Given the description of an element on the screen output the (x, y) to click on. 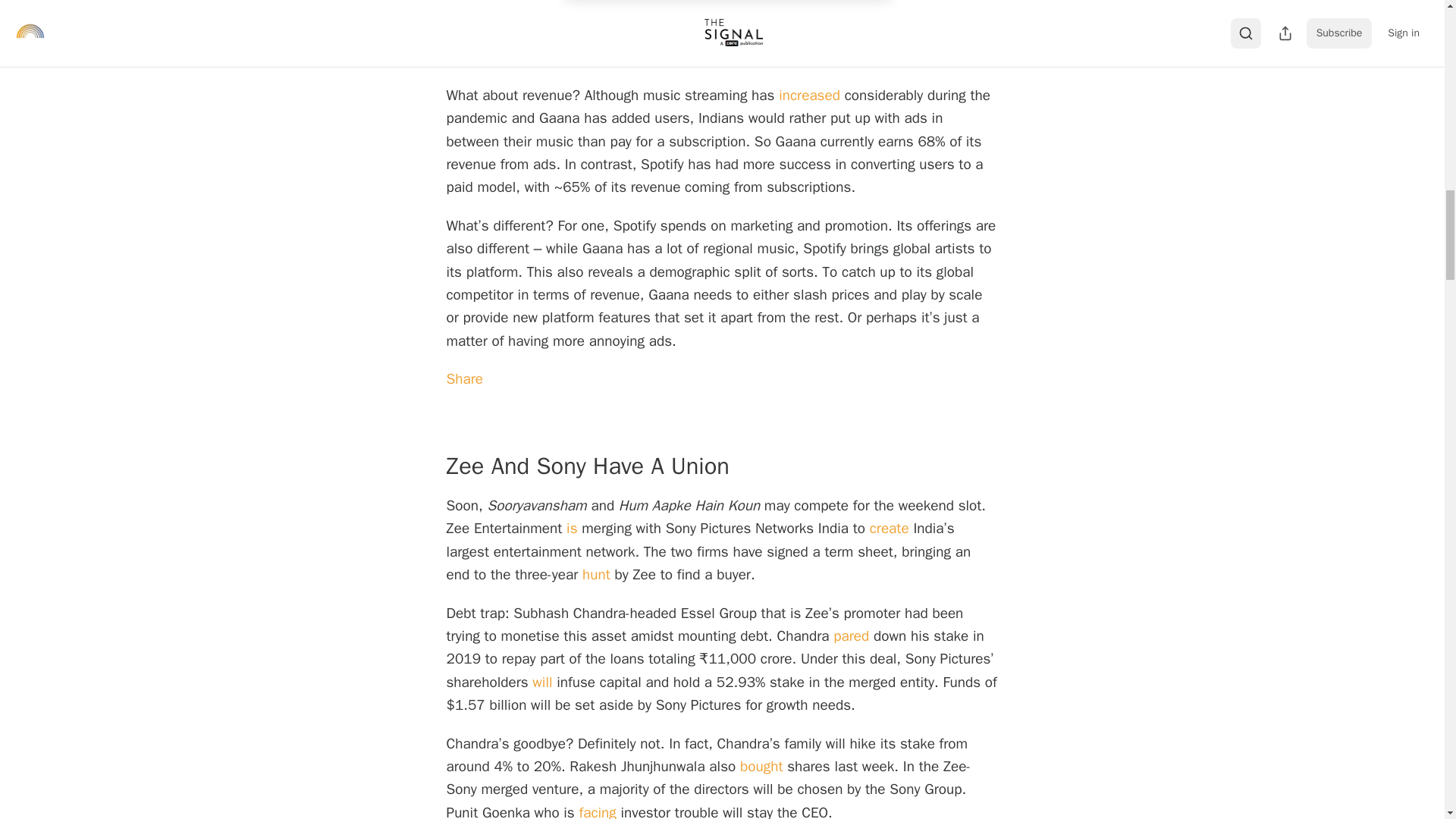
hunt (594, 574)
will (541, 682)
Share (464, 379)
increased (809, 95)
unable (466, 57)
pared (850, 636)
bought (761, 766)
create (888, 528)
